Given the description of an element on the screen output the (x, y) to click on. 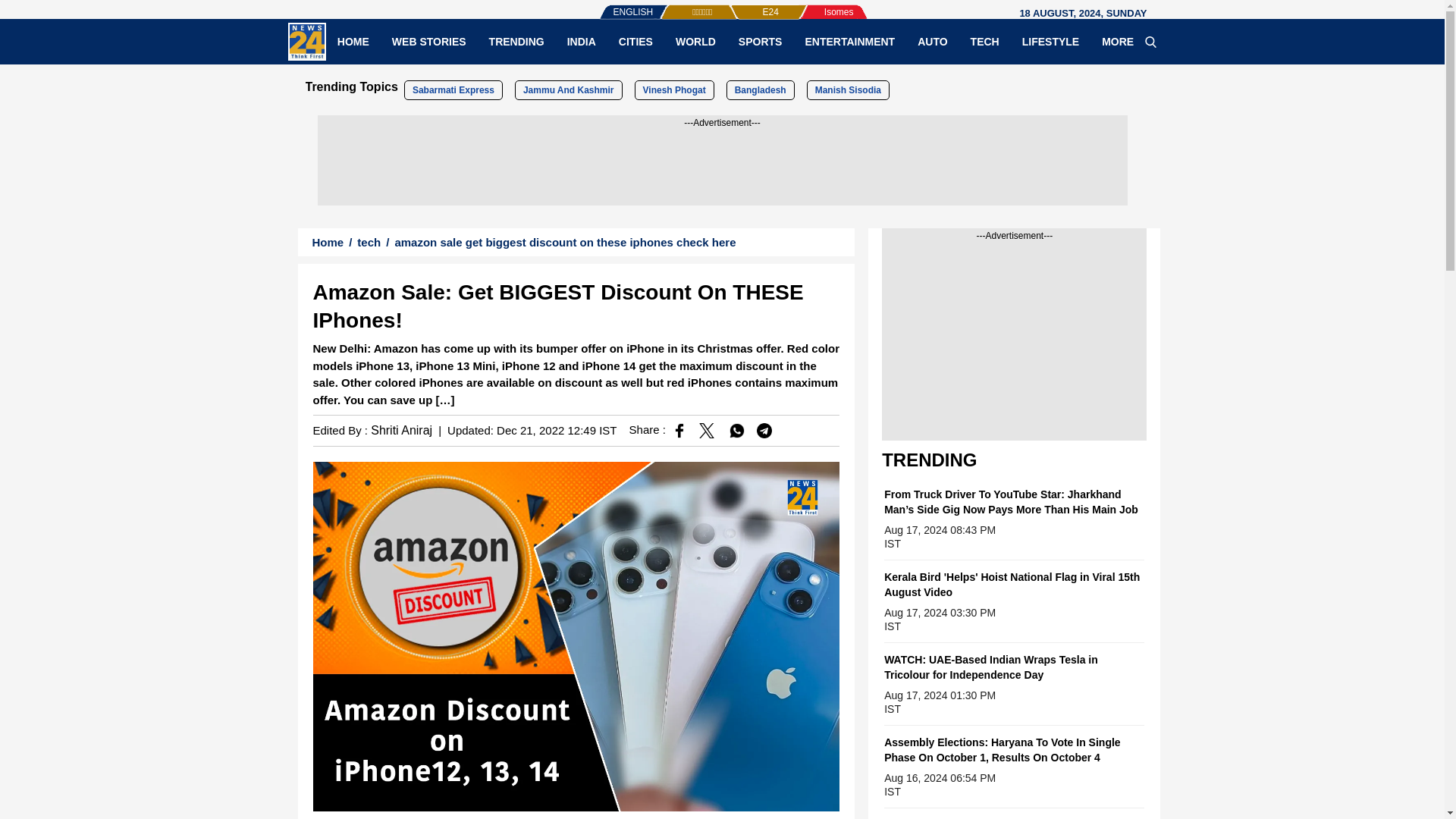
ENTERTAINMENT (849, 41)
CITIES (635, 41)
LIFESTYLE (1050, 41)
TECH (984, 41)
TRENDING (516, 41)
E24 (744, 4)
Isomes (814, 4)
WEB STORIES (428, 41)
WORLD (694, 41)
INDIA (581, 41)
